Given the description of an element on the screen output the (x, y) to click on. 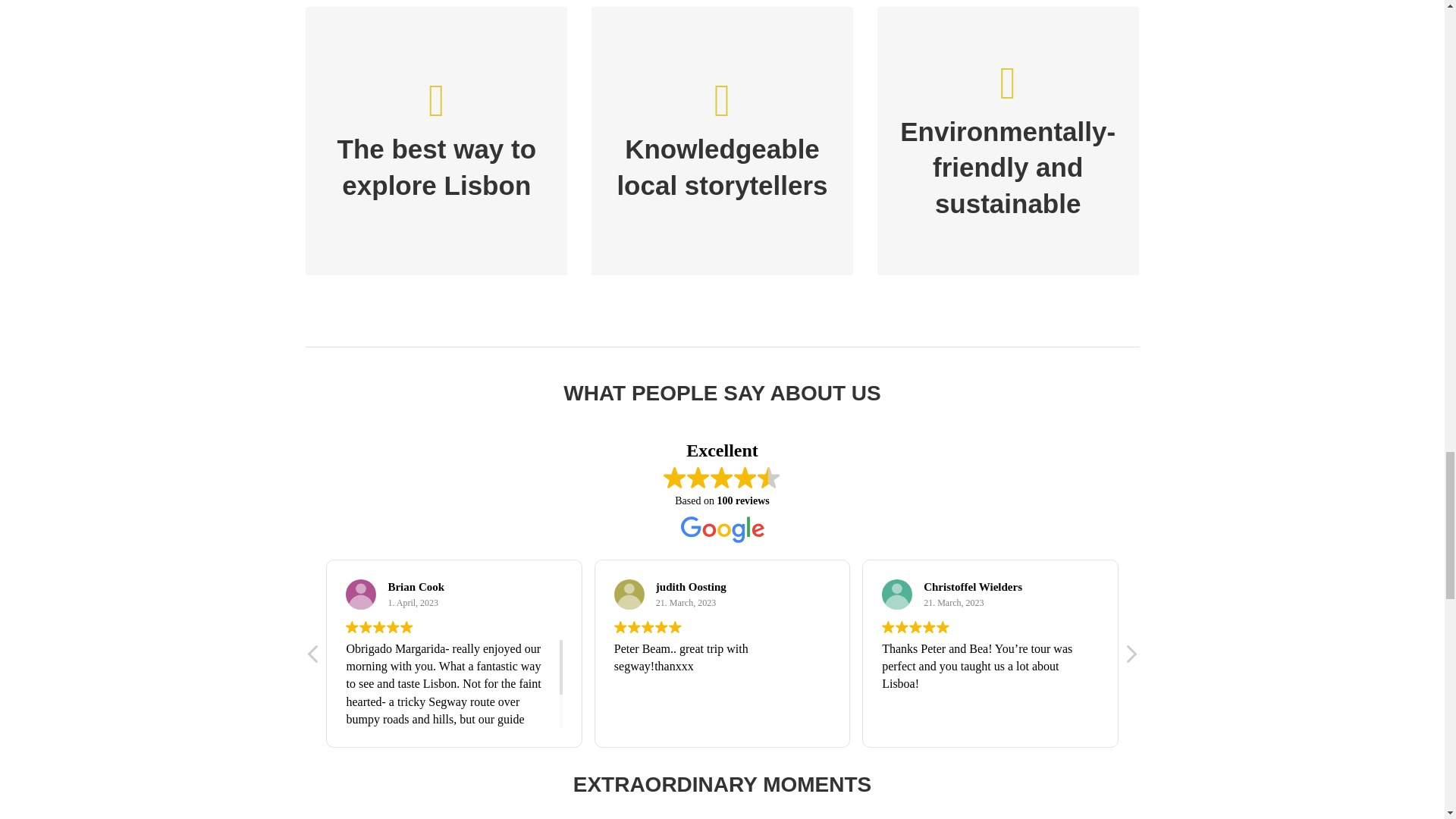
EXTRAORDINARY MOMENTS (721, 791)
